Given the description of an element on the screen output the (x, y) to click on. 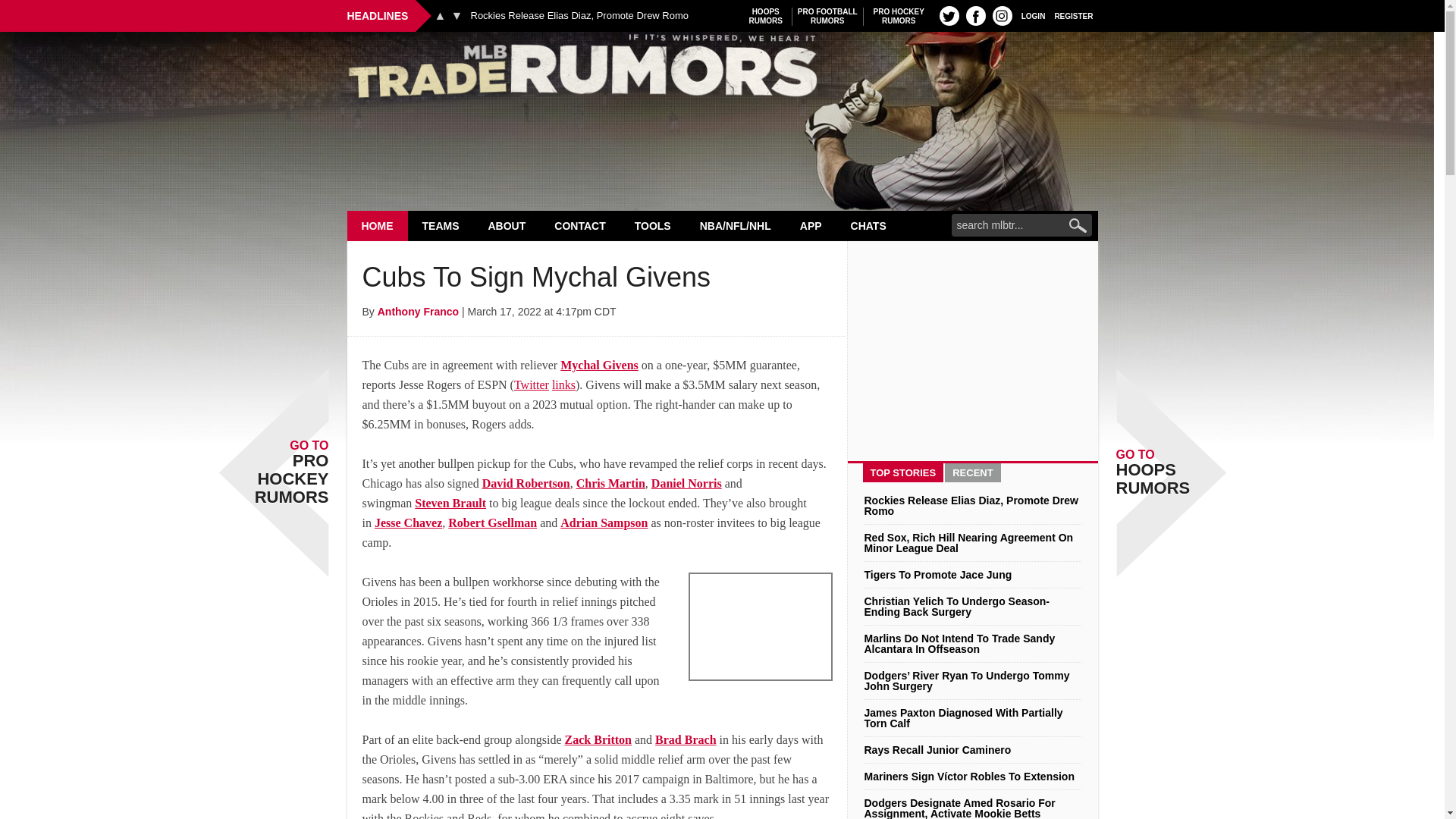
HOME (765, 16)
Previous (377, 225)
MLB Trade Rumors (439, 15)
Rockies Release Elias Diaz, Promote Drew Romo (722, 69)
Search (579, 15)
FB profile (898, 16)
